Given the description of an element on the screen output the (x, y) to click on. 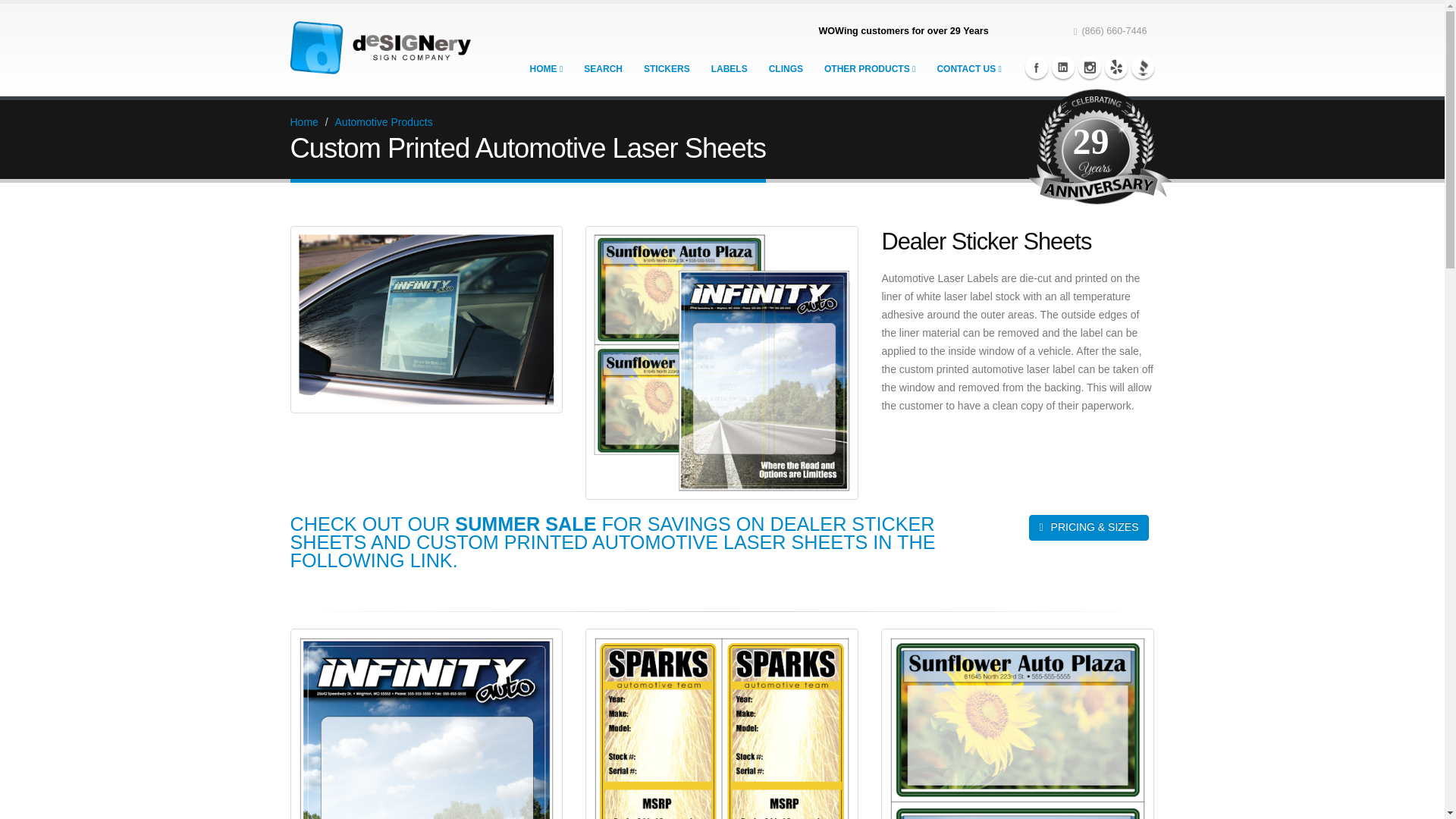
Home (303, 121)
Instagram (1089, 67)
CONTACT US (968, 69)
HOME (546, 69)
CLINGS (785, 69)
Automotive Products (383, 121)
BBB (1142, 67)
SEARCH (602, 69)
STICKERS (666, 69)
LABELS (729, 69)
